Given the description of an element on the screen output the (x, y) to click on. 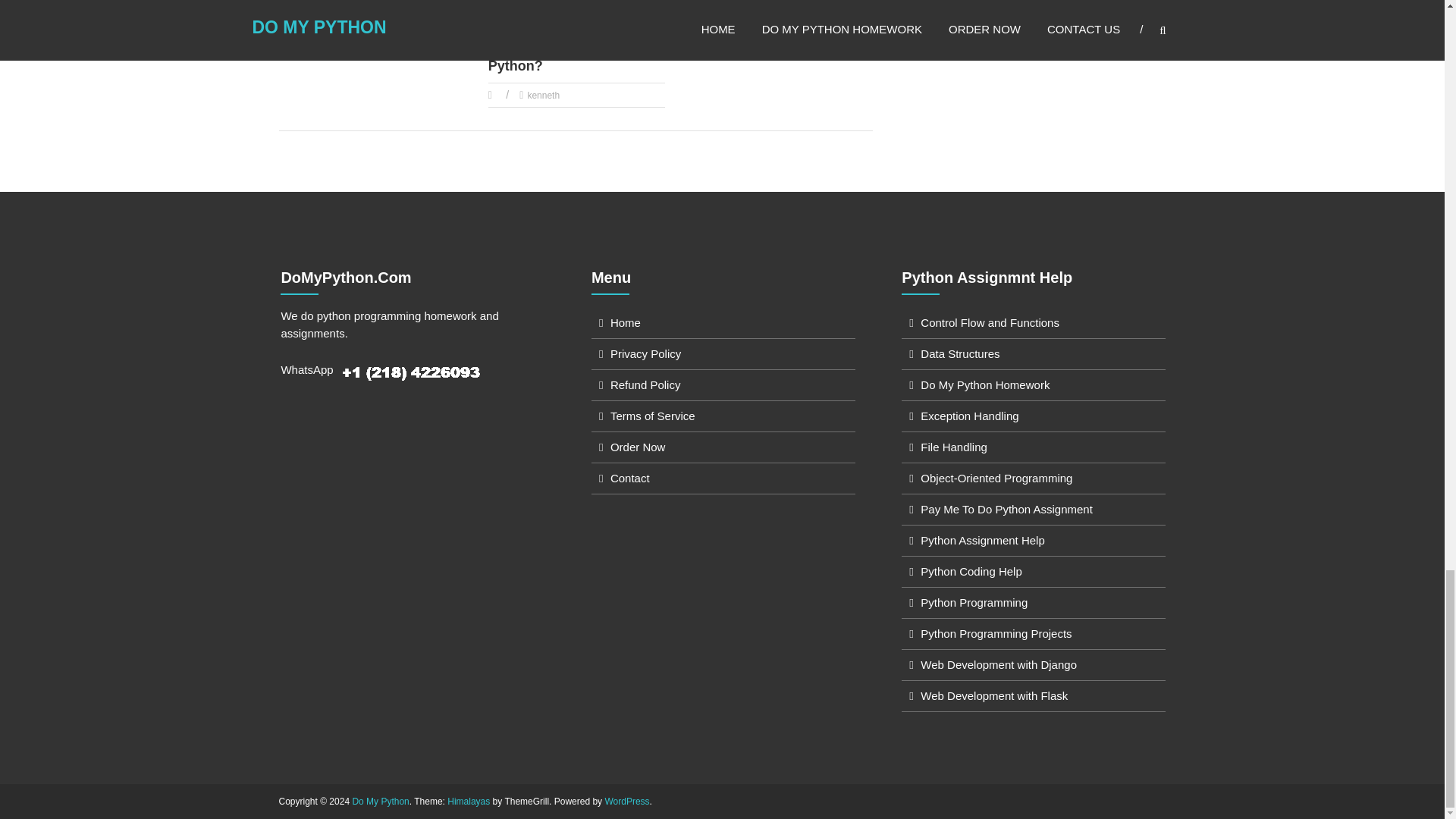
How to implement authentication and authorization in Python? (359, 10)
How to implement authentication and authorization in Python? (359, 10)
kenneth (335, 41)
kenneth (335, 41)
